Given the description of an element on the screen output the (x, y) to click on. 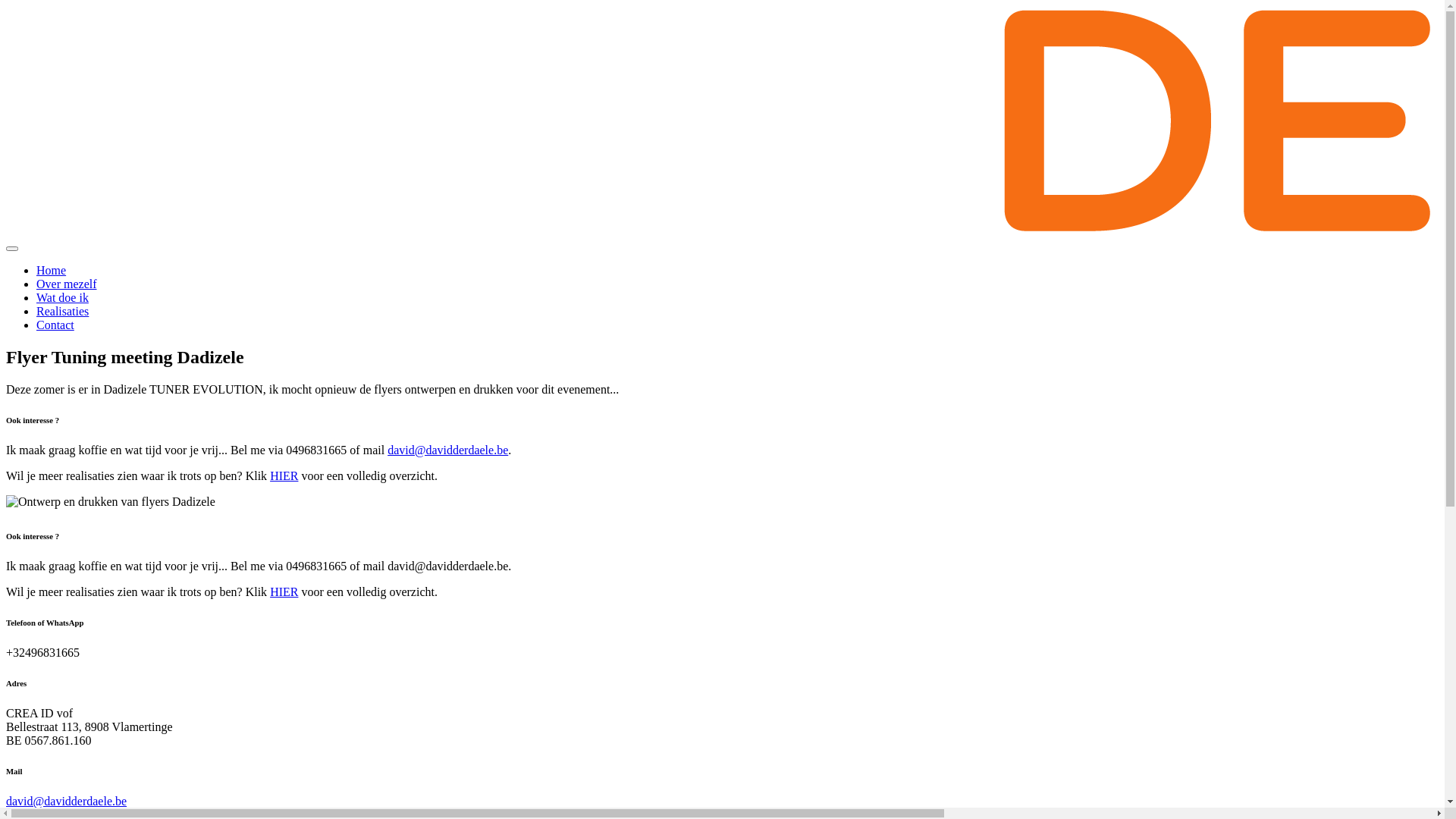
Over mezelf Element type: text (66, 283)
HIER Element type: text (283, 475)
Contact Element type: text (55, 324)
david@davidderdaele.be Element type: text (447, 449)
Wat doe ik Element type: text (62, 297)
Realisaties Element type: text (62, 310)
HIER Element type: text (283, 591)
Home Element type: text (50, 269)
david@davidderdaele.be Element type: text (66, 800)
